Given the description of an element on the screen output the (x, y) to click on. 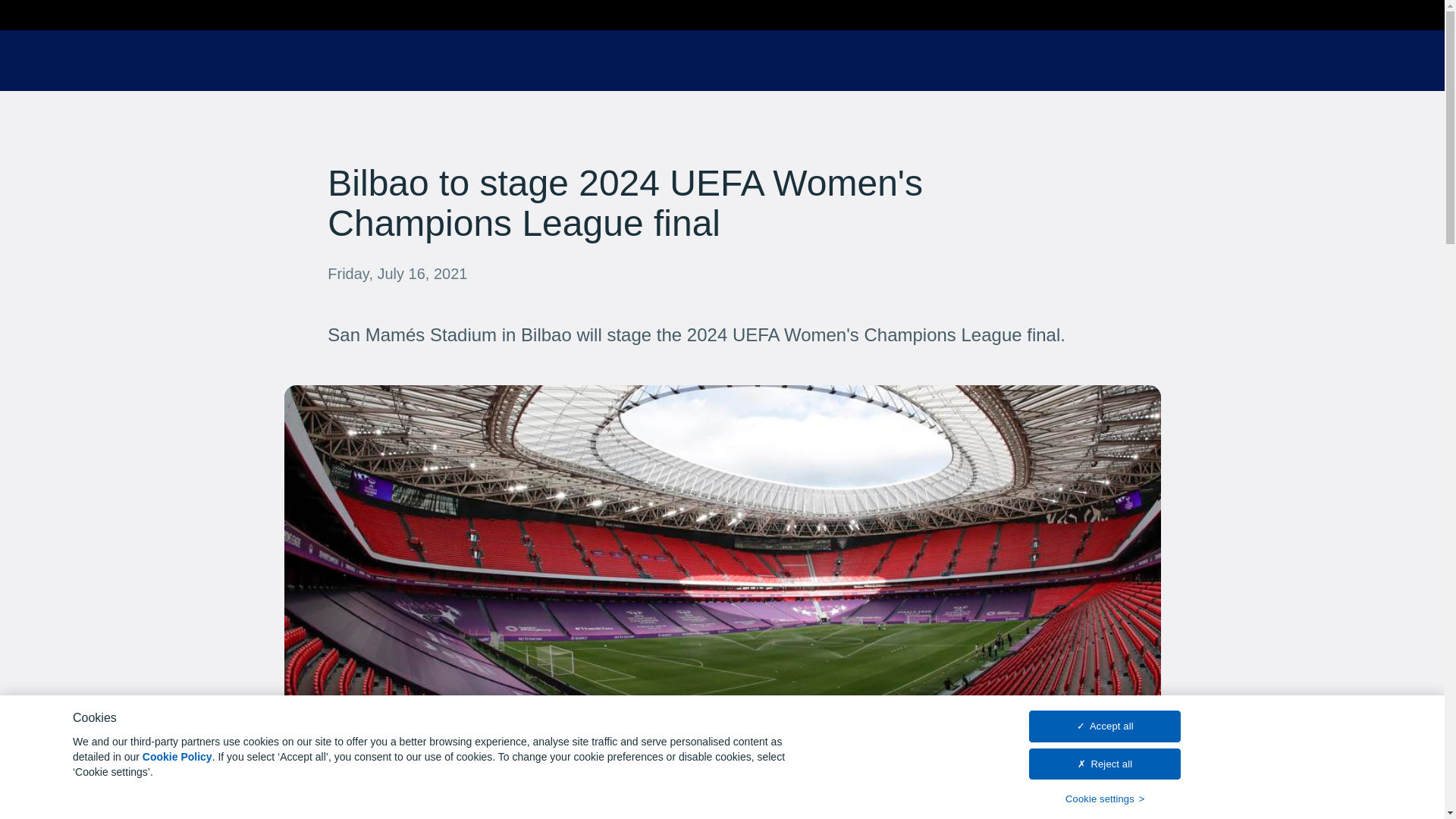
Cookie settings (1104, 798)
Accept all (1104, 726)
Reject all (1104, 764)
Cookie Policy (177, 756)
